Given the description of an element on the screen output the (x, y) to click on. 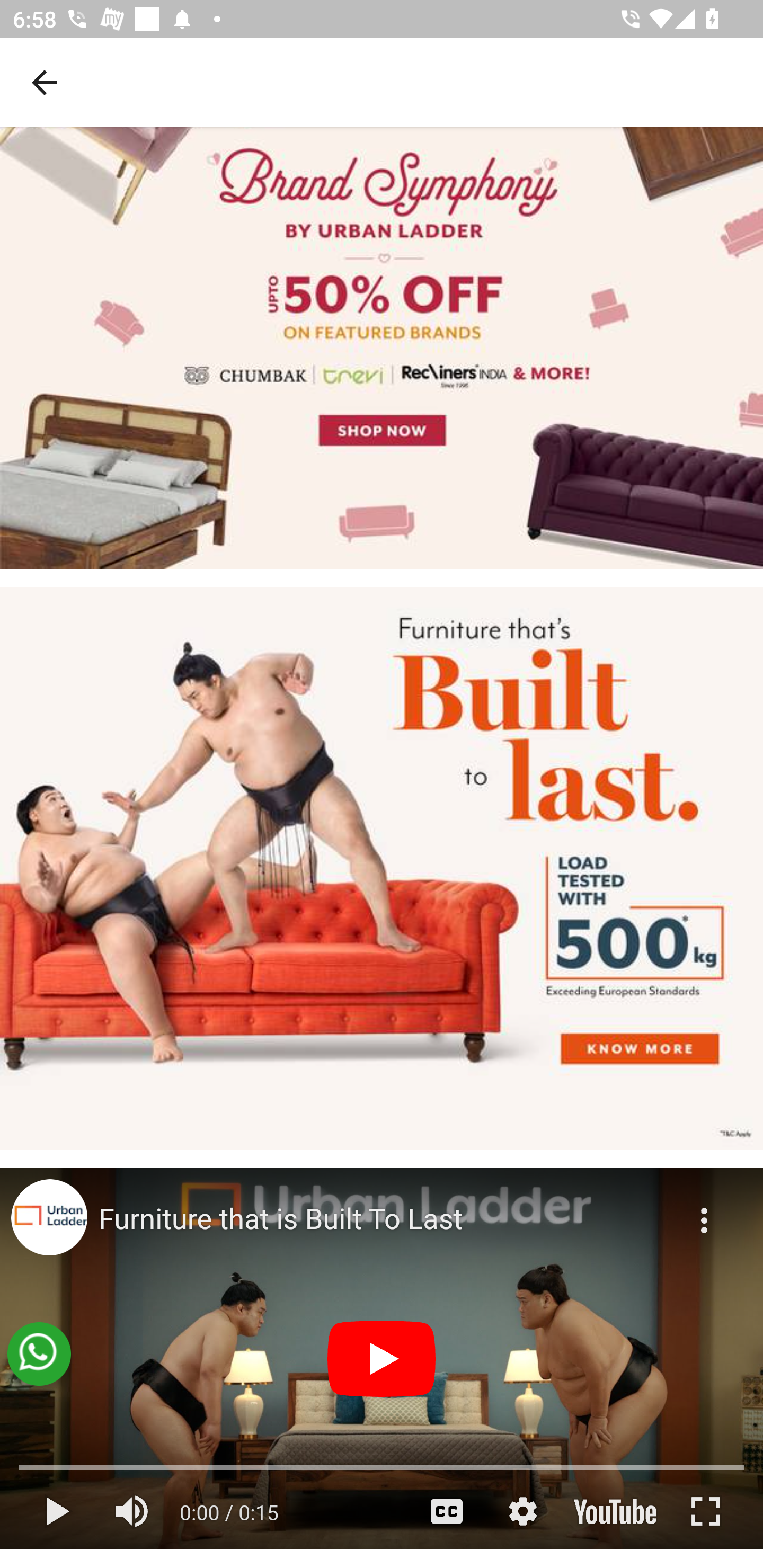
Navigate up (44, 82)
vmi brand symphony (381, 348)
whatsapp (38, 1353)
